Given the description of an element on the screen output the (x, y) to click on. 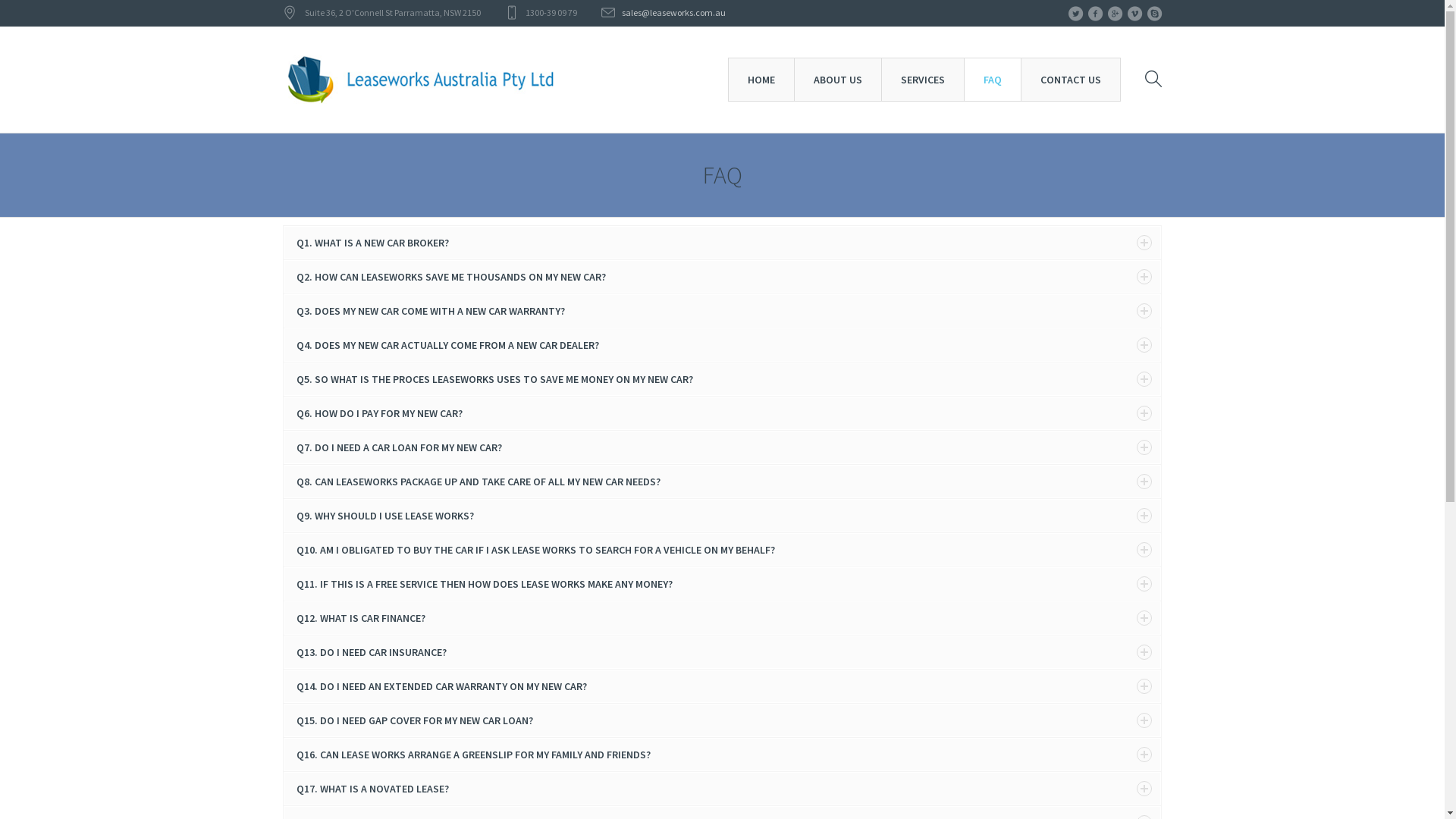
FAQ Element type: text (991, 79)
Lease Works Element type: hover (1047, 736)
Q12. WHAT IS CAR FINANCE? Element type: text (721, 617)
Facebook Element type: hover (1094, 13)
Q4. DOES MY NEW CAR ACTUALLY COME FROM A NEW CAR DEALER? Element type: text (721, 344)
Q13. DO I NEED CAR INSURANCE? Element type: text (721, 651)
Google+ Element type: hover (1114, 13)
Designed by Primitus Consultancy Element type: text (484, 777)
CONTACT US Element type: text (1070, 79)
Q7. DO I NEED A CAR LOAN FOR MY NEW CAR? Element type: text (721, 447)
Skype Element type: hover (407, 720)
sales@leaseworks.com.au Element type: text (673, 12)
Google+ Element type: hover (349, 720)
Skype Element type: hover (1153, 13)
SITE MAP Element type: text (1145, 774)
Q3. DOES MY NEW CAR COME WITH A NEW CAR WARRANTY? Element type: text (721, 310)
Q9. WHY SHOULD I USE LEASE WORKS? Element type: text (721, 515)
ENQUIRY FORM Element type: text (1081, 774)
Twitter Element type: hover (292, 720)
ABOUT US Element type: text (987, 774)
Facebook Element type: hover (321, 720)
ABOUT US Element type: text (837, 79)
Vimeo Element type: hover (1134, 13)
Q14. DO I NEED AN EXTENDED CAR WARRANTY ON MY NEW CAR? Element type: text (721, 685)
Vimeo Element type: hover (378, 720)
SERVICES Element type: text (922, 79)
FAQ Element type: text (1029, 774)
Q15. DO I NEED GAP COVER FOR MY NEW CAR LOAN? Element type: text (721, 720)
Q1. WHAT IS A NEW CAR BROKER? Element type: text (721, 242)
HOME Element type: text (761, 79)
Q2. HOW CAN LEASEWORKS SAVE ME THOUSANDS ON MY NEW CAR? Element type: text (721, 276)
HOME Element type: text (941, 774)
Q6. HOW DO I PAY FOR MY NEW CAR? Element type: text (721, 412)
Q17. WHAT IS A NOVATED LEASE? Element type: text (721, 788)
Twitter Element type: hover (1074, 13)
